Given the description of an element on the screen output the (x, y) to click on. 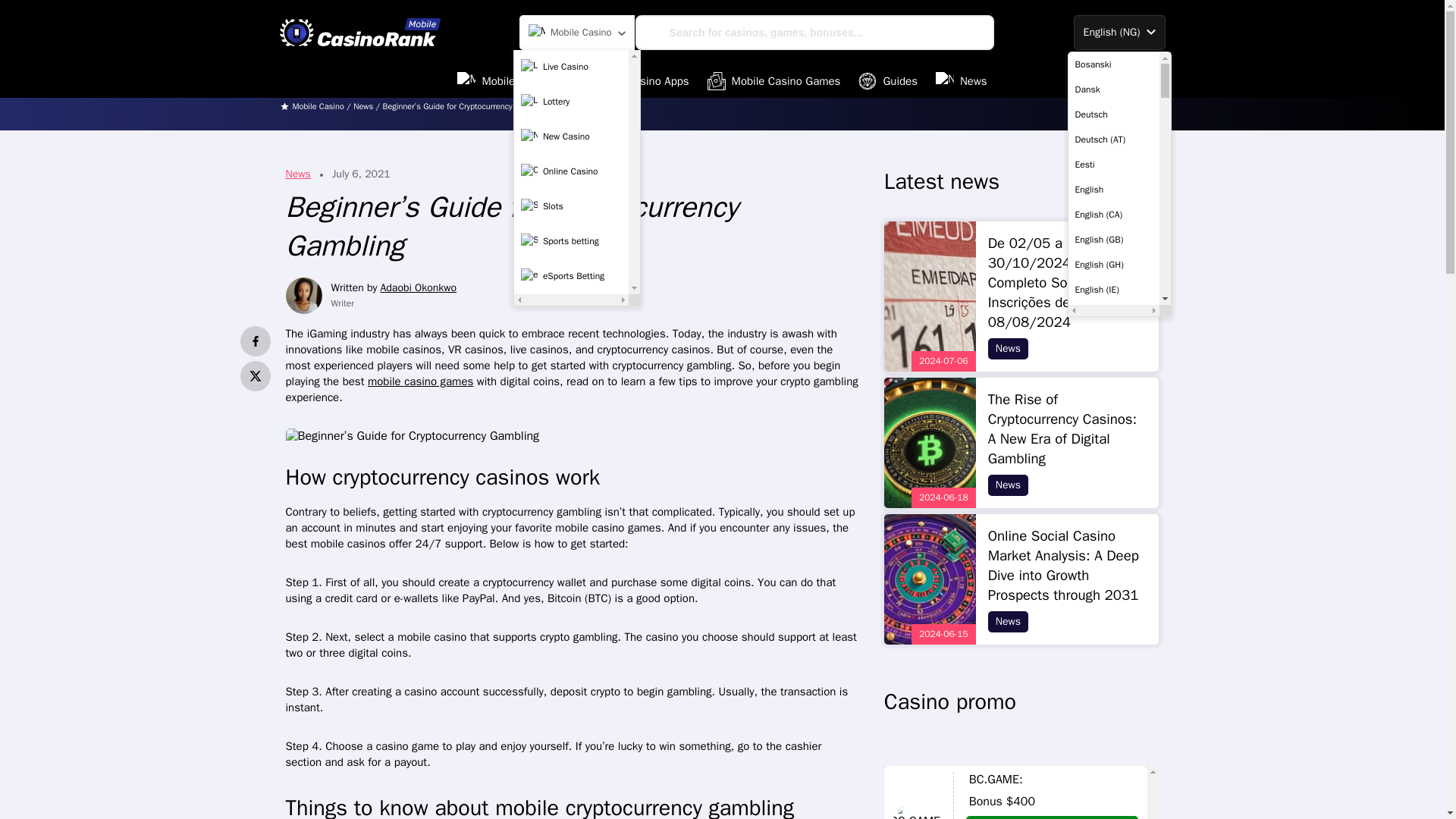
Online Casino (571, 172)
Live Casino (571, 67)
Dansk (1113, 89)
Hrvatski (1113, 810)
English (1113, 189)
eSports Betting (571, 276)
New Casino (571, 136)
Eesti (1113, 163)
Slots (571, 206)
Sports betting (571, 241)
Bosanski (1113, 63)
Lottery (571, 102)
Deutsch (1113, 113)
